Given the description of an element on the screen output the (x, y) to click on. 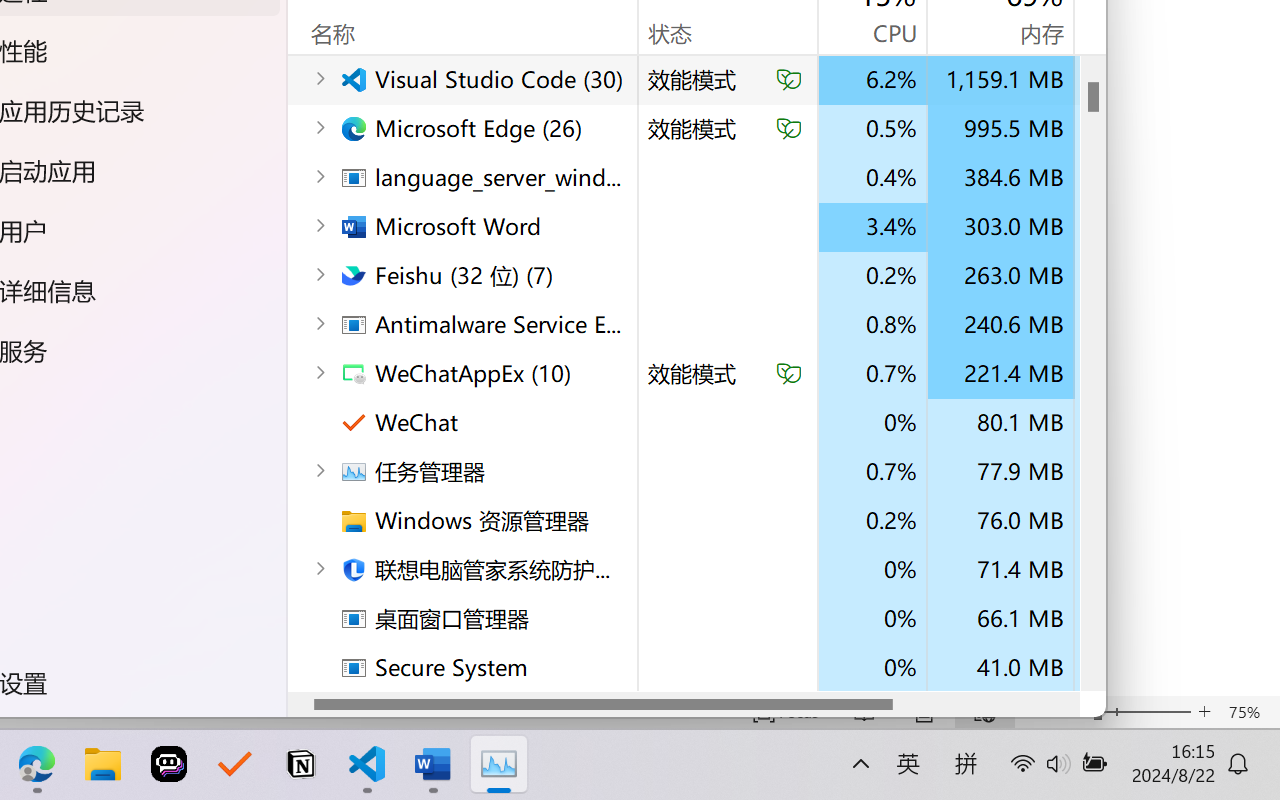
Notion (300, 764)
Poe (168, 764)
